Given the description of an element on the screen output the (x, y) to click on. 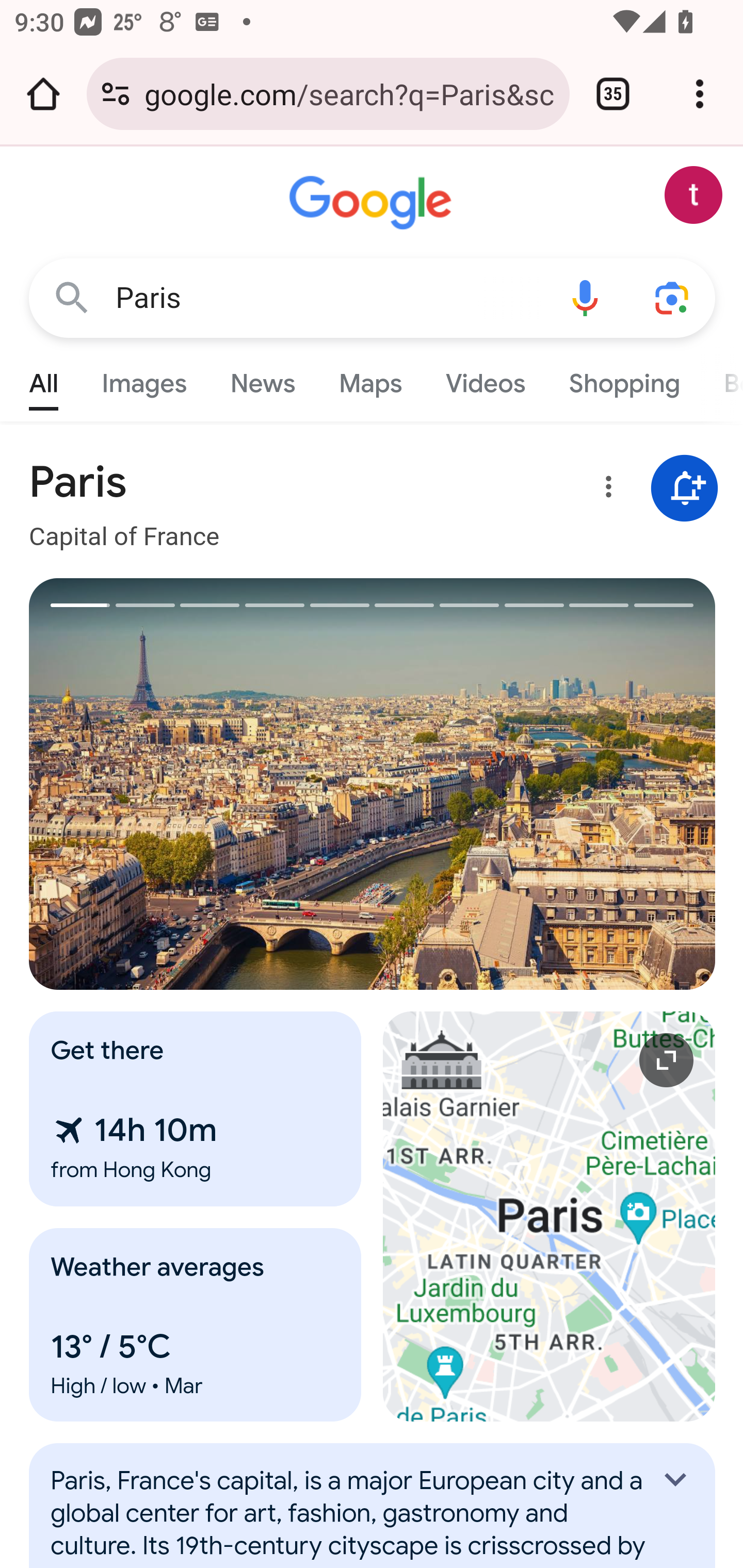
Open the home page (43, 93)
Connection is secure (115, 93)
Switch or close tabs (612, 93)
Customize and control Google Chrome (699, 93)
Google (372, 203)
Google Search (71, 296)
Search using your camera or photos (672, 296)
Paris (328, 297)
Images (144, 378)
News (262, 378)
Maps (369, 378)
Videos (485, 378)
Shopping (623, 378)
Get notifications about Paris (684, 489)
More options (605, 489)
Previous image (200, 783)
Next image (544, 783)
Expand map (549, 1216)
Weather averages 13° / 5°C High / low • Mar (195, 1324)
